Given the description of an element on the screen output the (x, y) to click on. 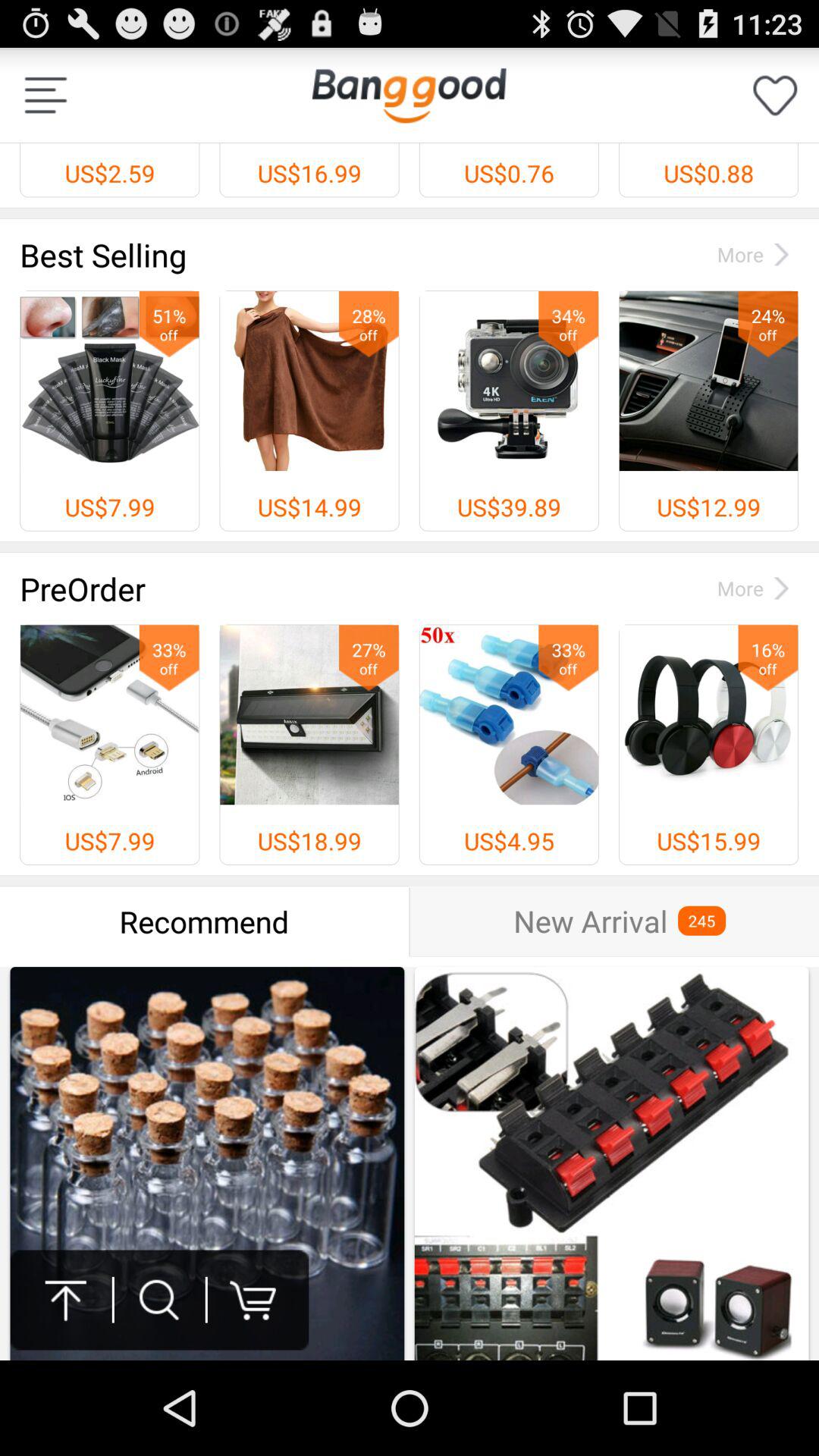
press the app to the right of the us$0.76 icon (775, 95)
